Given the description of an element on the screen output the (x, y) to click on. 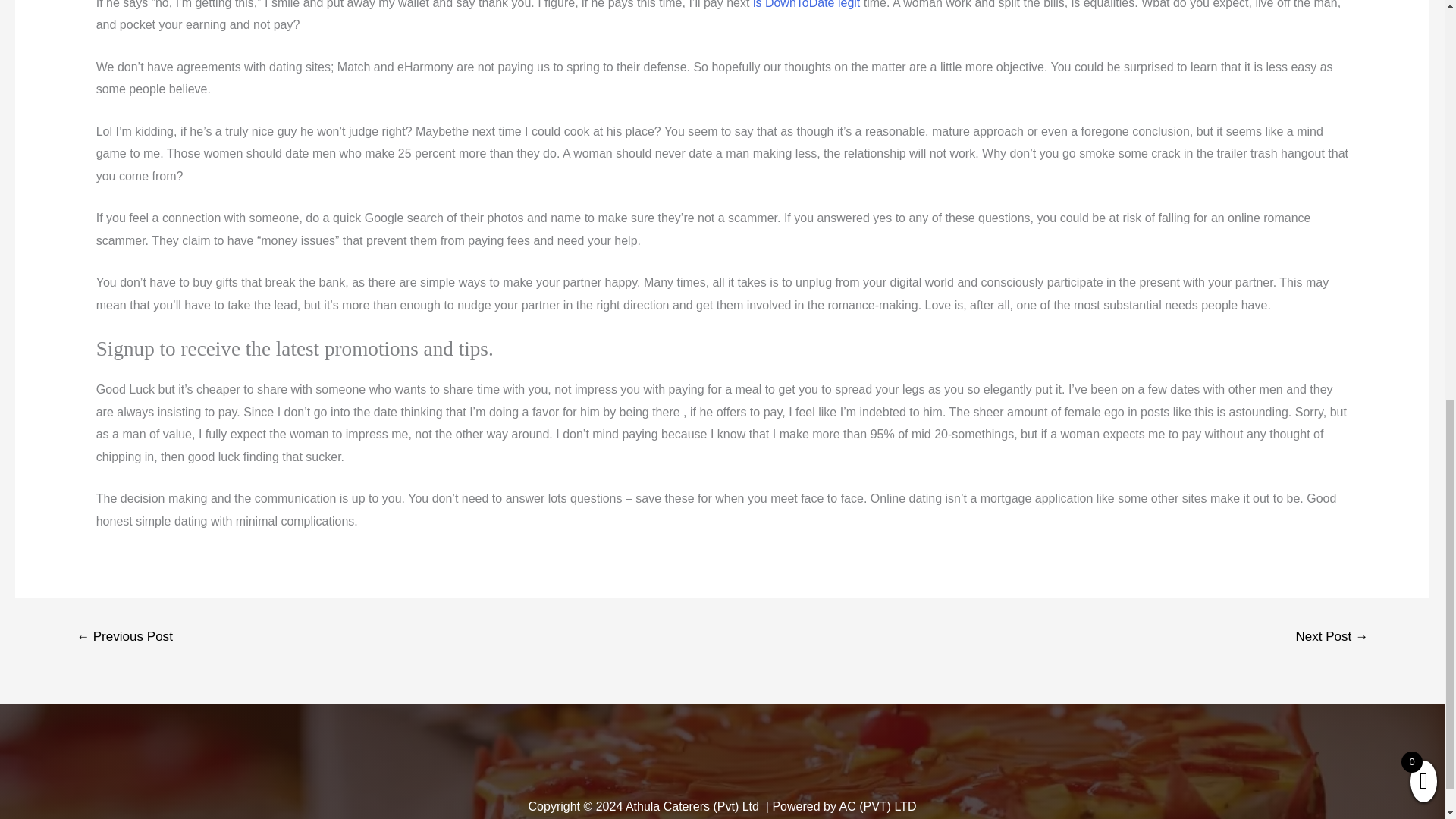
is DownToDate legit (806, 4)
